Given the description of an element on the screen output the (x, y) to click on. 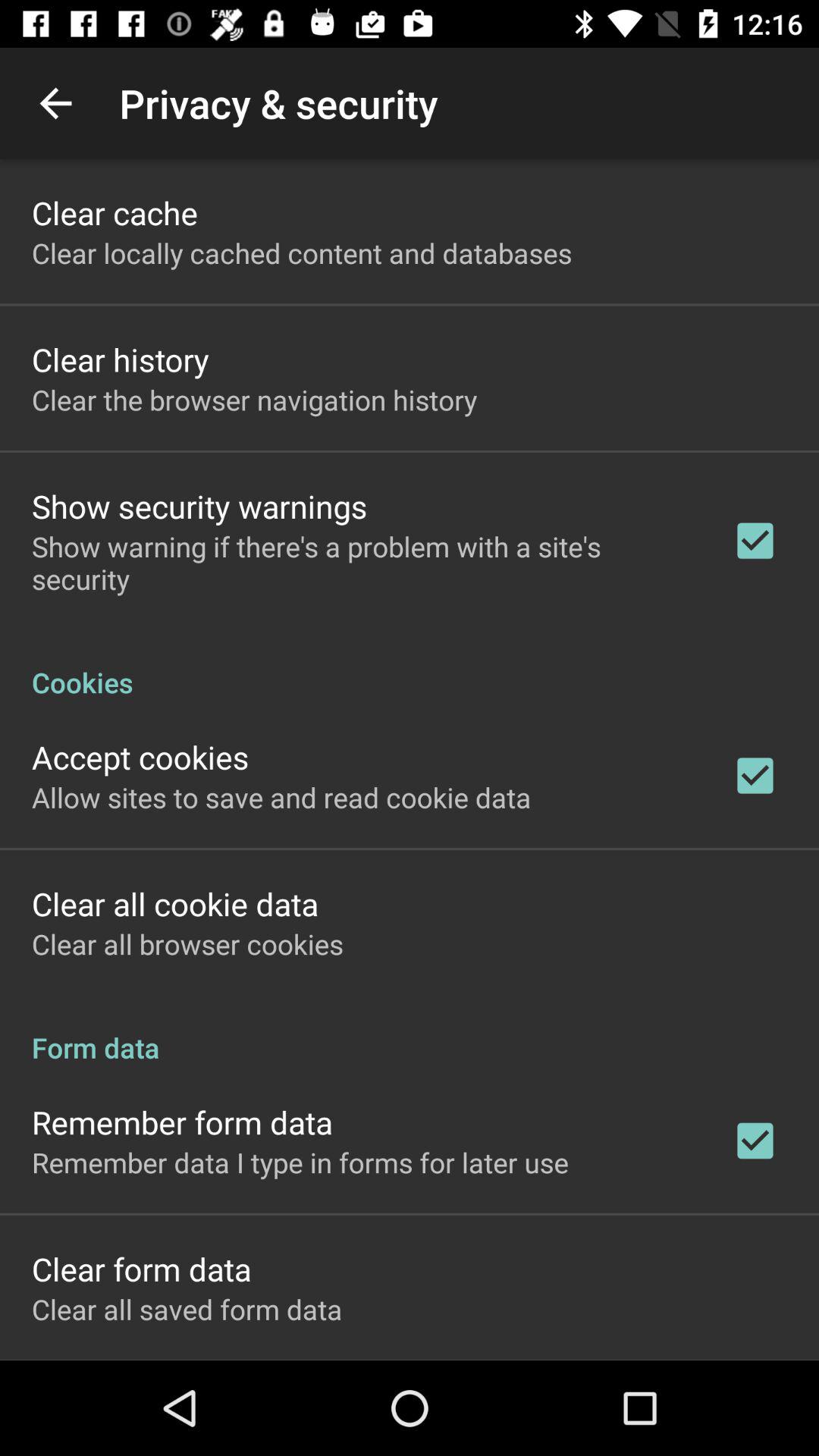
choose allow sites to icon (281, 797)
